Given the description of an element on the screen output the (x, y) to click on. 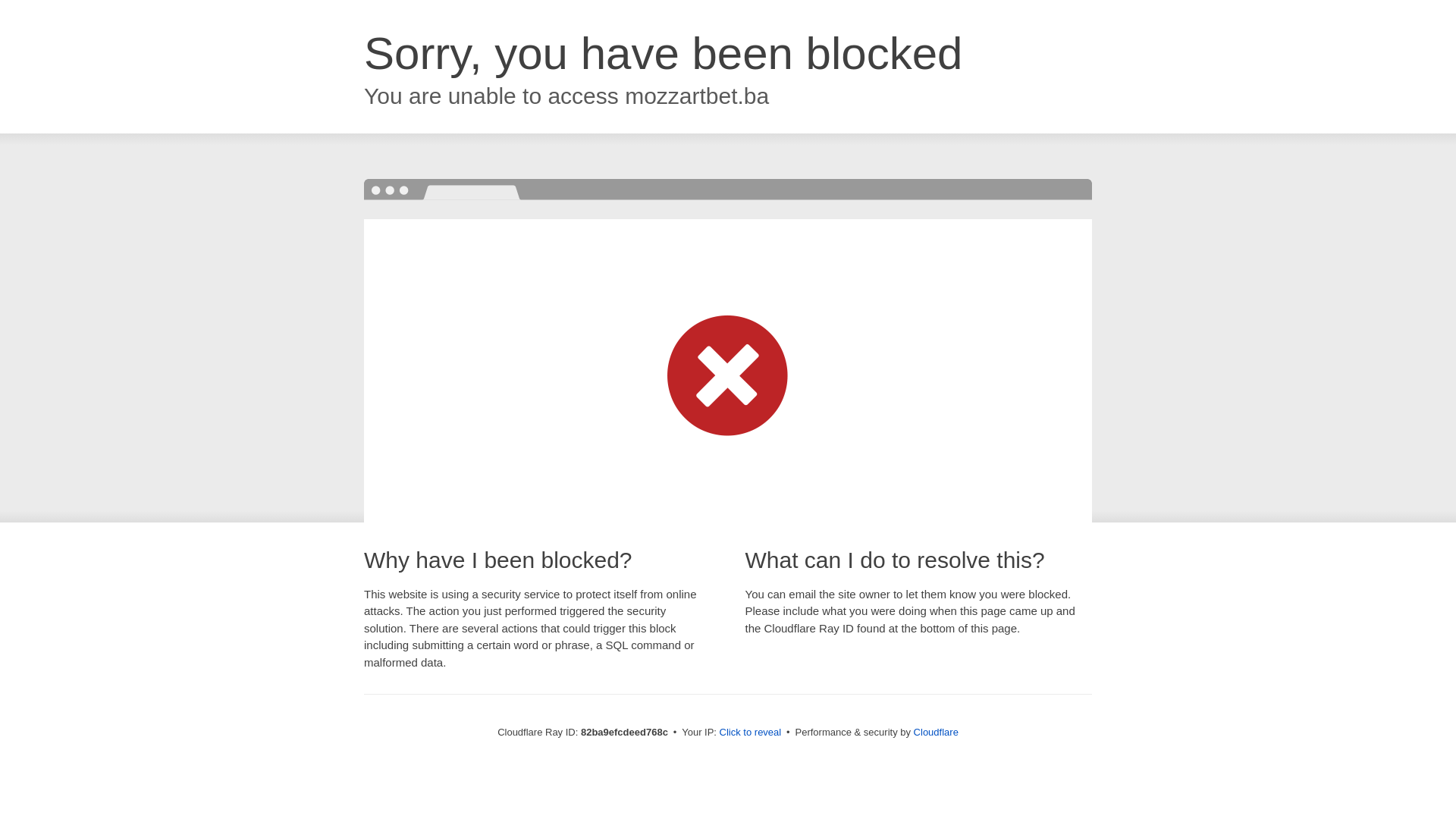
Cloudflare Element type: text (935, 731)
Click to reveal Element type: text (750, 732)
